Given the description of an element on the screen output the (x, y) to click on. 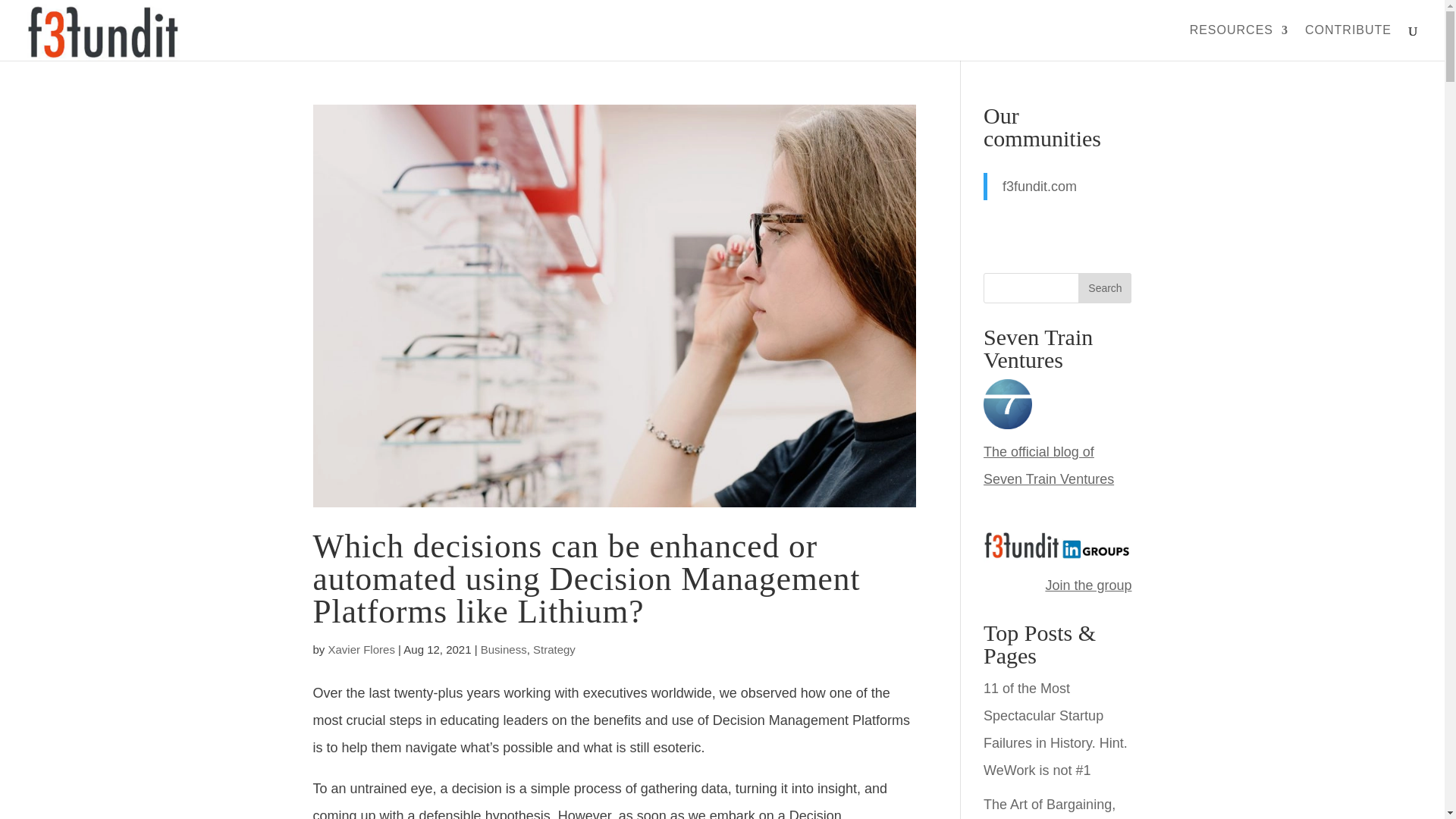
Business (503, 649)
RESOURCES (1238, 42)
Strategy (553, 649)
Xavier Flores (361, 649)
CONTRIBUTE (1347, 42)
Search (1104, 287)
Posts by Xavier Flores (361, 649)
